Given the description of an element on the screen output the (x, y) to click on. 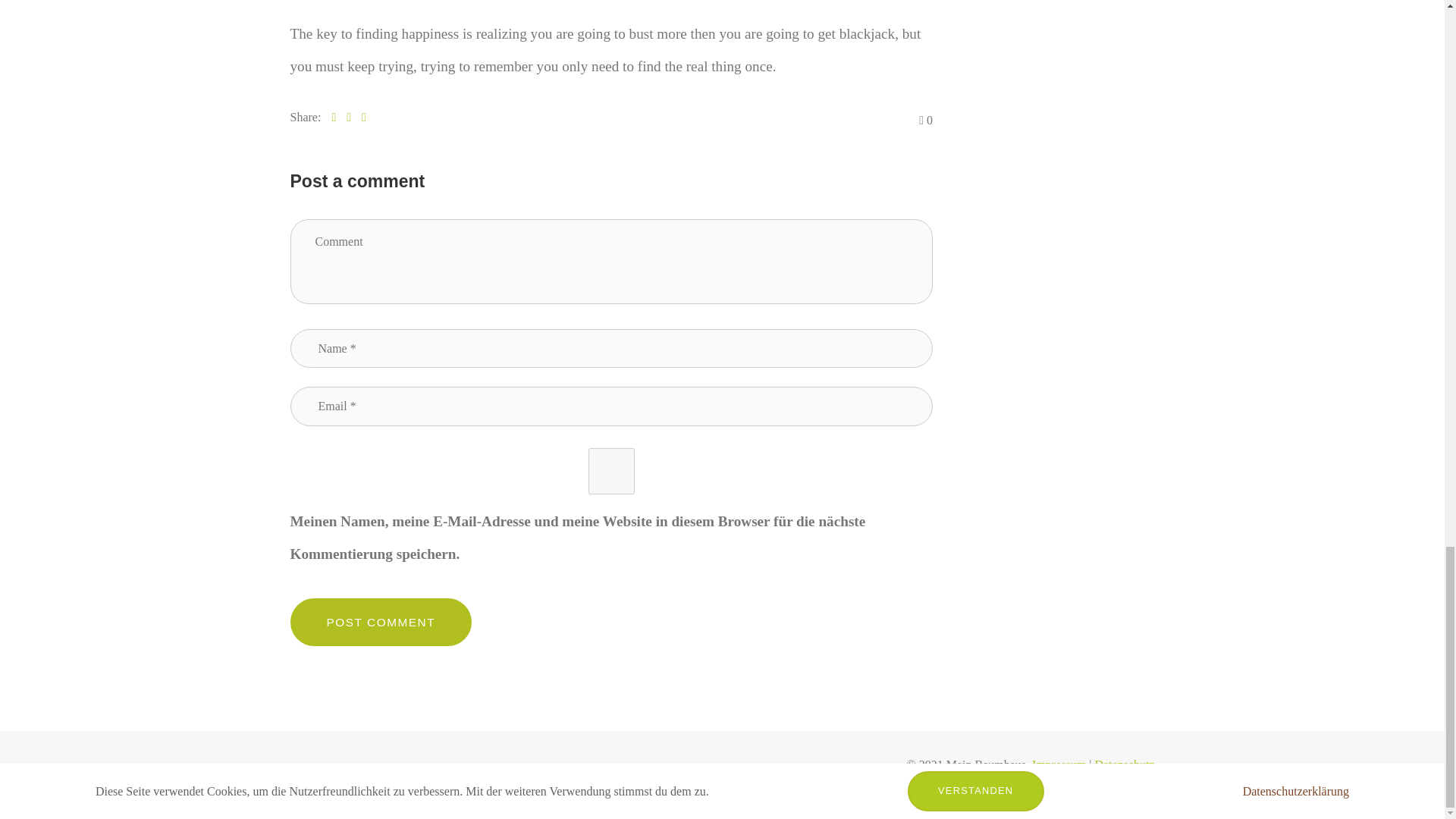
Datenschutz (1124, 764)
Wawitta Coburg (1114, 784)
yes (611, 470)
Impressum (1060, 764)
POST COMMENT (380, 621)
